Given the description of an element on the screen output the (x, y) to click on. 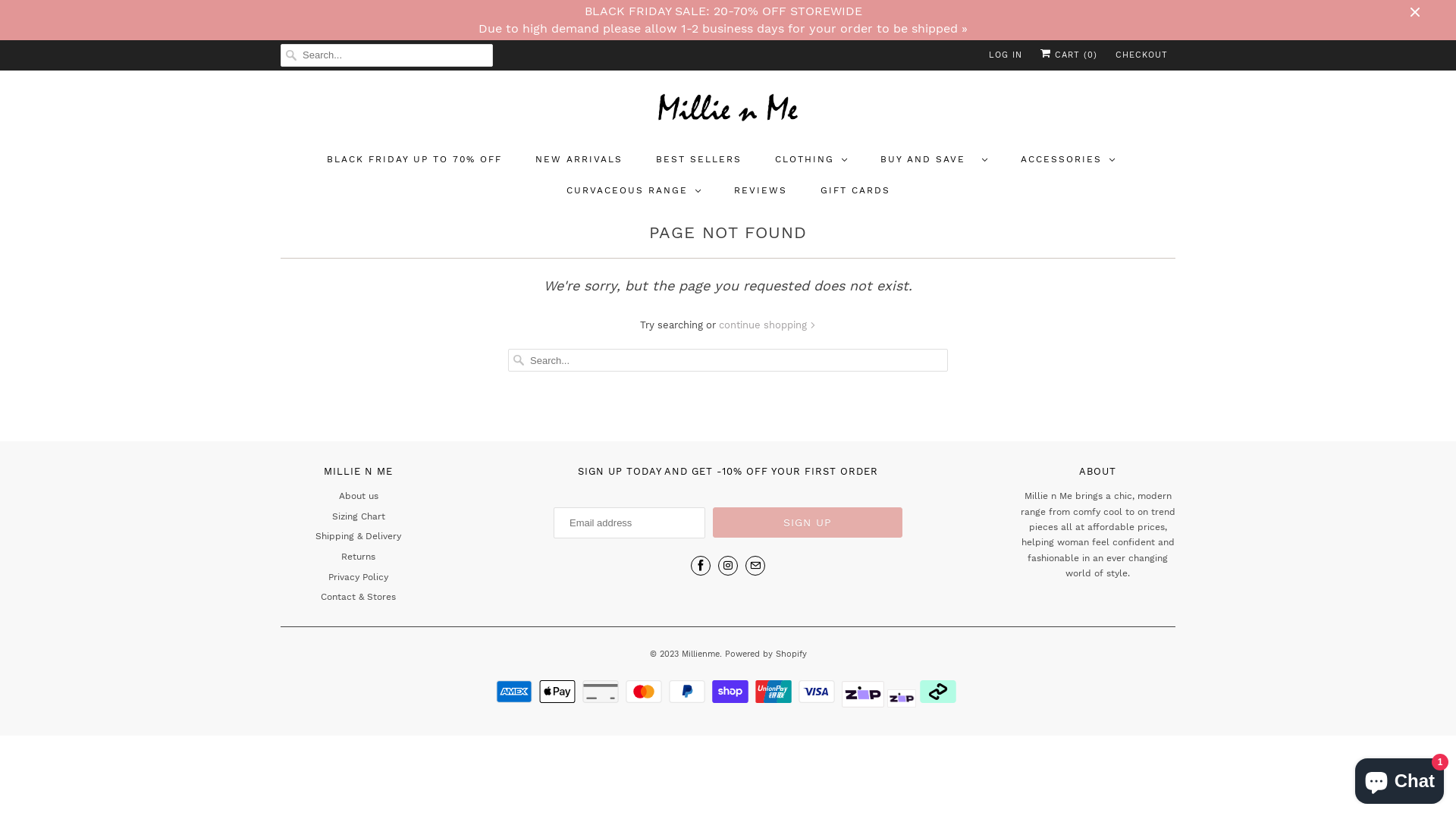
Millienme Element type: text (699, 649)
CURVACEOUS RANGE Element type: text (632, 190)
ACCESSORIES Element type: text (1067, 159)
Millienme on Instagram Element type: hover (727, 565)
BUY AND SAVE  Element type: text (932, 159)
Shipping & Delivery Element type: text (358, 535)
BLACK FRIDAY UP TO 70% OFF Element type: text (413, 159)
Privacy Policy Element type: text (358, 576)
CART (0) Element type: text (1068, 54)
Sizing Chart Element type: text (358, 516)
NEW ARRIVALS Element type: text (578, 159)
Email Millienme Element type: hover (755, 565)
Contact & Stores Element type: text (357, 596)
BEST SELLERS Element type: text (697, 159)
Millienme Element type: hover (727, 110)
GIFT CARDS Element type: text (855, 190)
LOG IN Element type: text (1005, 54)
CHECKOUT Element type: text (1141, 54)
Powered by Shopify Element type: text (765, 649)
continue shopping Element type: text (766, 324)
Returns Element type: text (358, 556)
REVIEWS Element type: text (760, 190)
About us Element type: text (357, 495)
CLOTHING Element type: text (811, 159)
Sign Up Element type: text (807, 522)
Shopify online store chat Element type: hover (1399, 777)
Millienme on Facebook Element type: hover (700, 565)
